Given the description of an element on the screen output the (x, y) to click on. 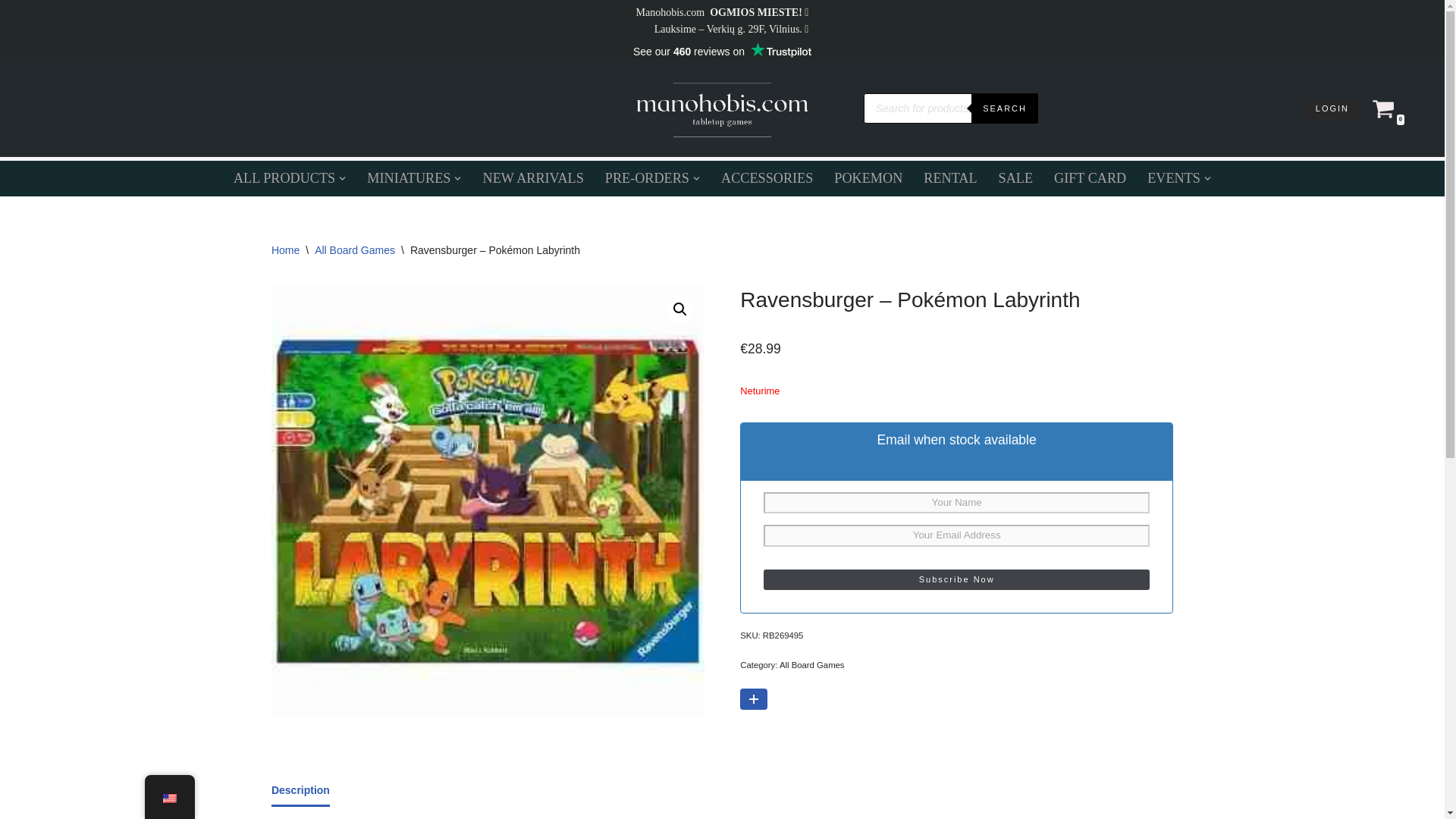
RENTAL (949, 178)
Skip to content (11, 31)
0 (1382, 108)
GIFT CARD (1089, 178)
ALL PRODUCTS (283, 178)
LOGIN (1332, 108)
POKEMON (868, 178)
English (168, 798)
SALE (1015, 178)
NEW ARRIVALS (533, 178)
MINIATURES (407, 178)
SEARCH (1004, 108)
PRE-ORDERS (646, 178)
ACCESSORIES (766, 178)
